Given the description of an element on the screen output the (x, y) to click on. 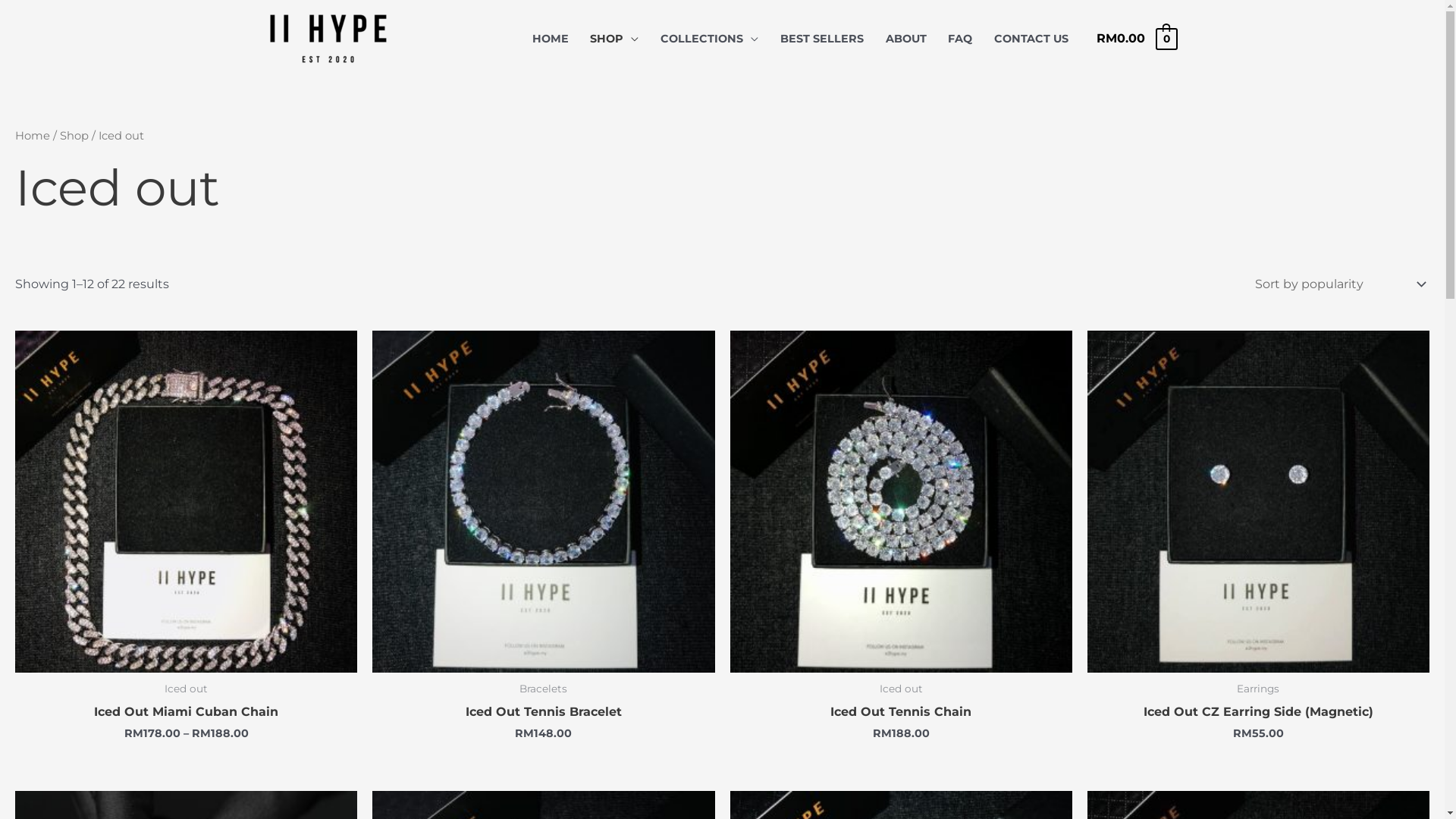
Iced Out Miami Cuban Chain Element type: text (186, 715)
RM0.00
0 Element type: text (1136, 37)
ABOUT Element type: text (905, 38)
SHOP Element type: text (614, 38)
Iced Out Tennis Chain Element type: text (900, 715)
COLLECTIONS Element type: text (709, 38)
HOME Element type: text (549, 38)
FAQ Element type: text (960, 38)
Home Element type: text (32, 135)
Shop Element type: text (73, 135)
CONTACT US Element type: text (1031, 38)
Iced Out CZ Earring Side (Magnetic) Element type: text (1258, 715)
BEST SELLERS Element type: text (821, 38)
Iced Out Tennis Bracelet Element type: text (543, 715)
